Given the description of an element on the screen output the (x, y) to click on. 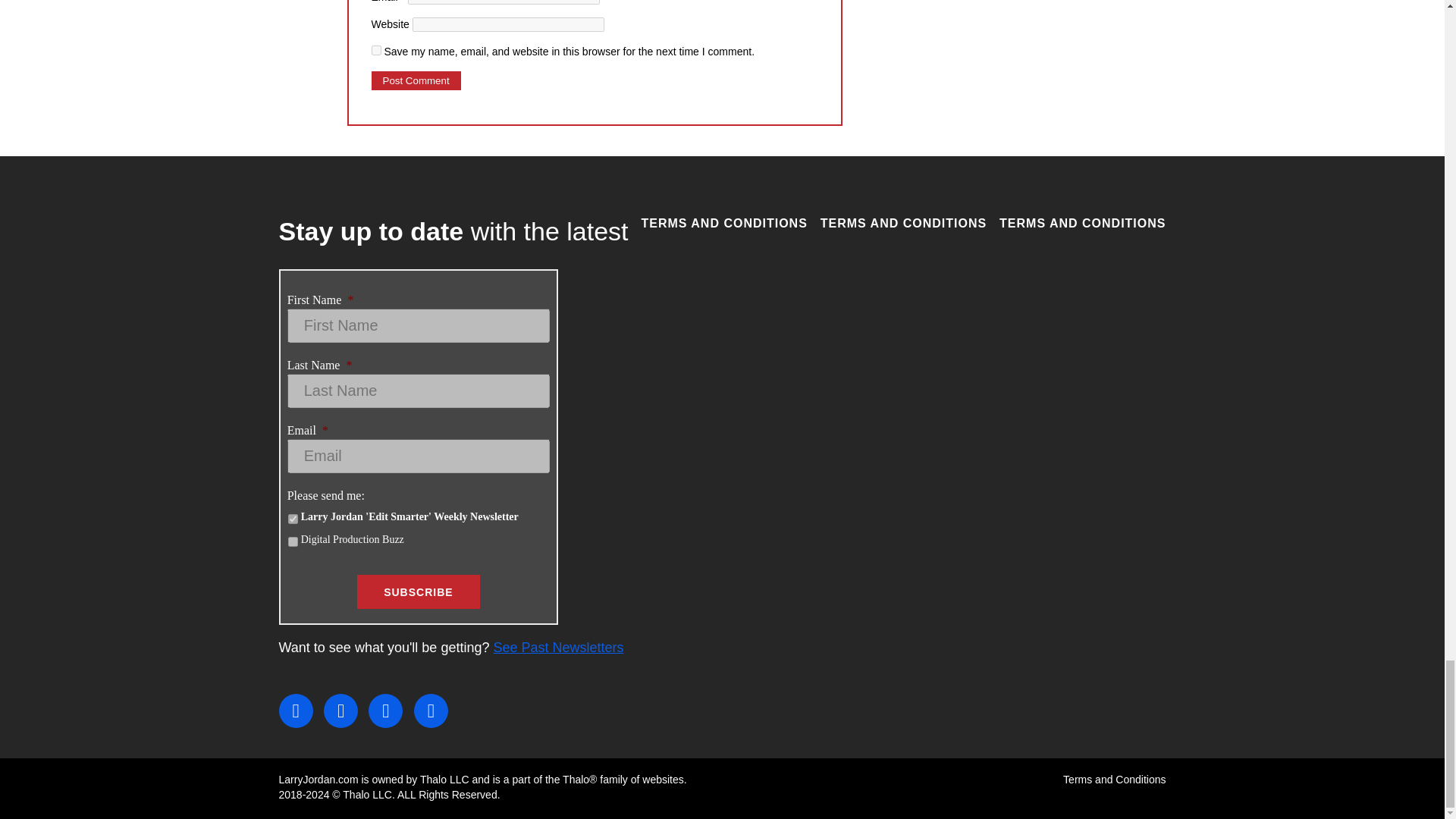
Newsletter Archive (558, 647)
Twitter (340, 710)
Digital Production Buzz (293, 542)
yes (376, 50)
Post Comment (416, 80)
SUBSCRIBE (417, 591)
Larry Jordan 'Edit Smarter' Weekly Newsletter (293, 519)
LinkedIn (385, 710)
YouTube (430, 710)
Facebook (296, 710)
